Given the description of an element on the screen output the (x, y) to click on. 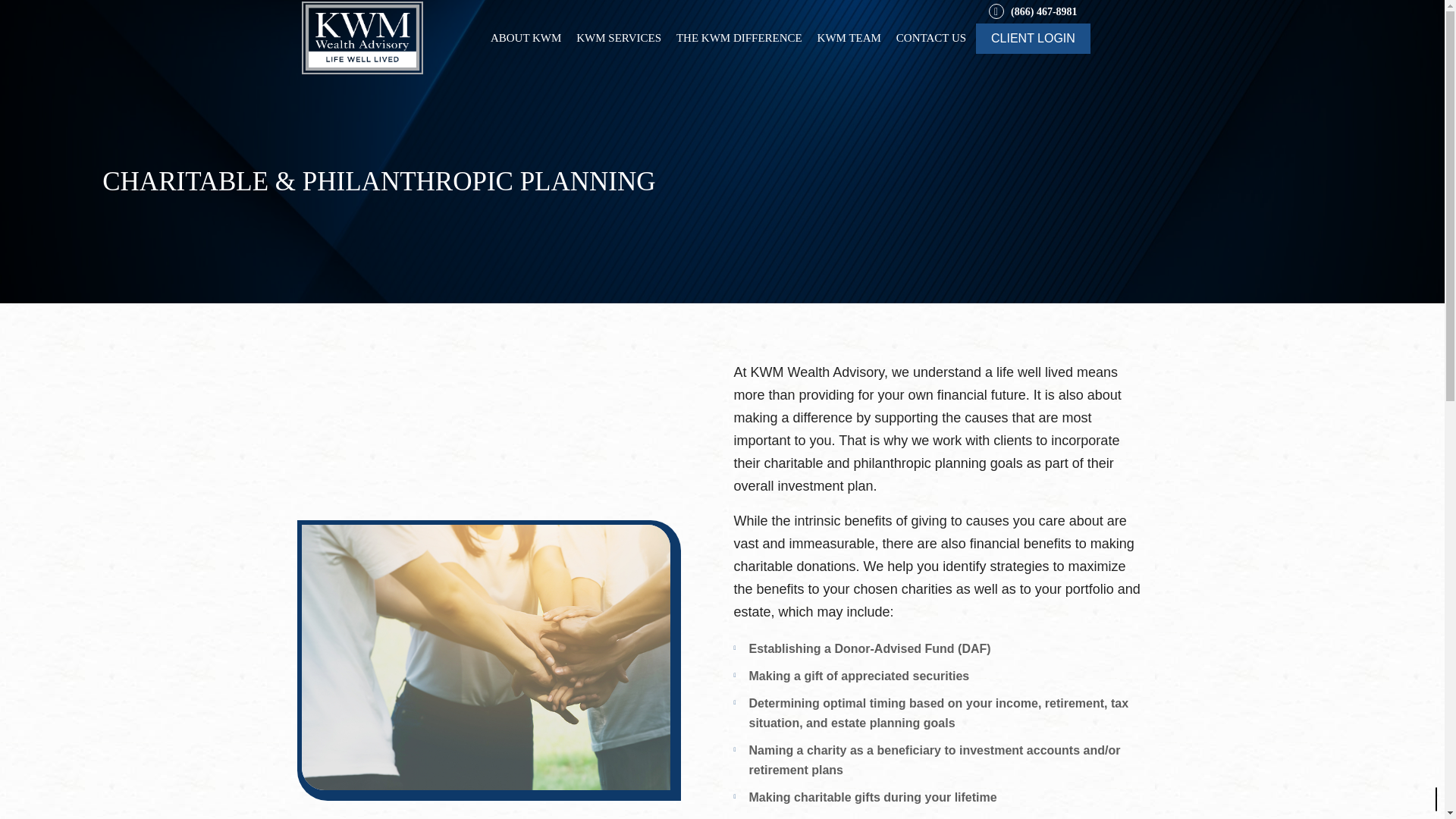
CLIENT LOGIN (1032, 37)
KWM TEAM (848, 37)
CONTACT US (930, 37)
THE KWM DIFFERENCE (738, 37)
KWM SERVICES (618, 37)
ABOUT KWM (525, 37)
